Given the description of an element on the screen output the (x, y) to click on. 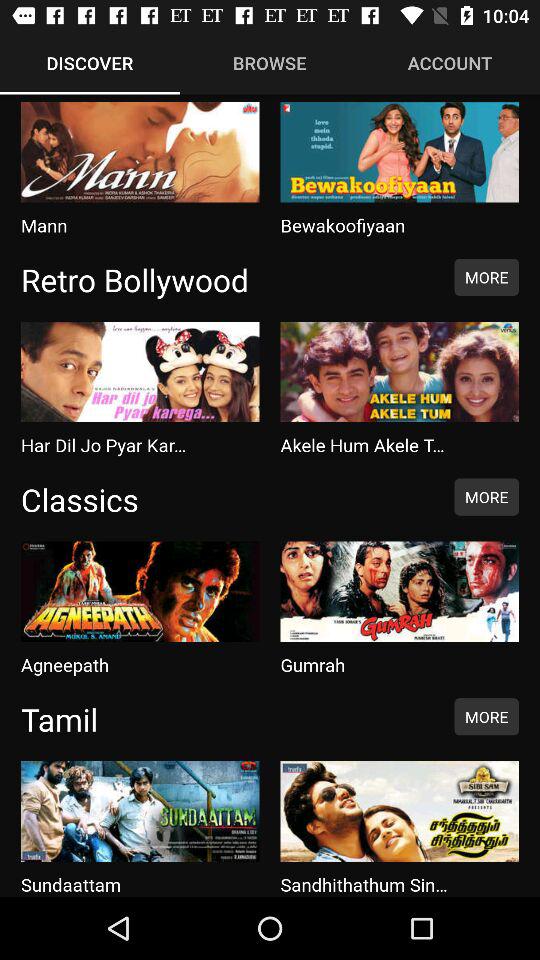
click item next to more icon (227, 499)
